Given the description of an element on the screen output the (x, y) to click on. 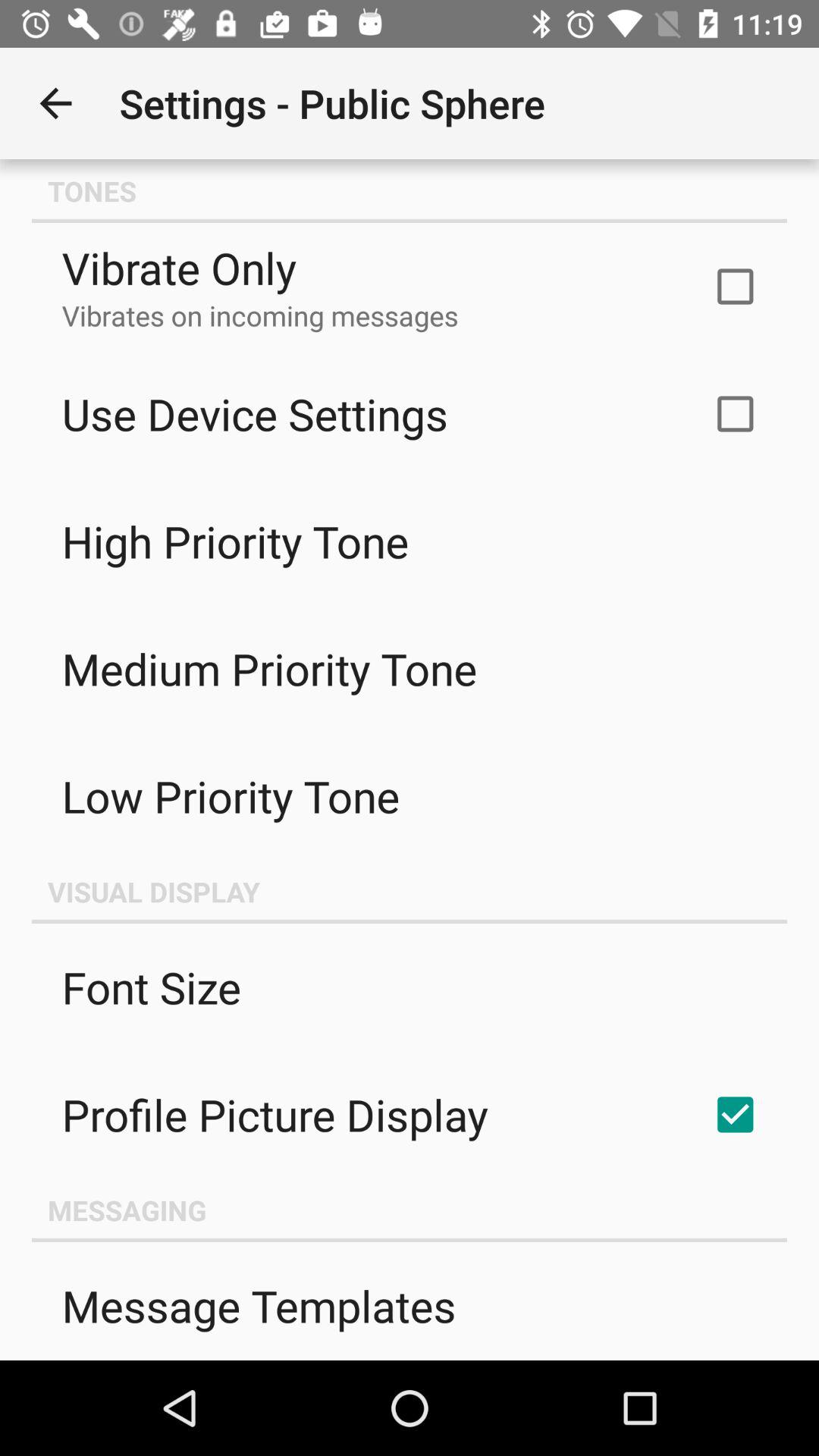
select the item below low priority tone item (409, 891)
